Given the description of an element on the screen output the (x, y) to click on. 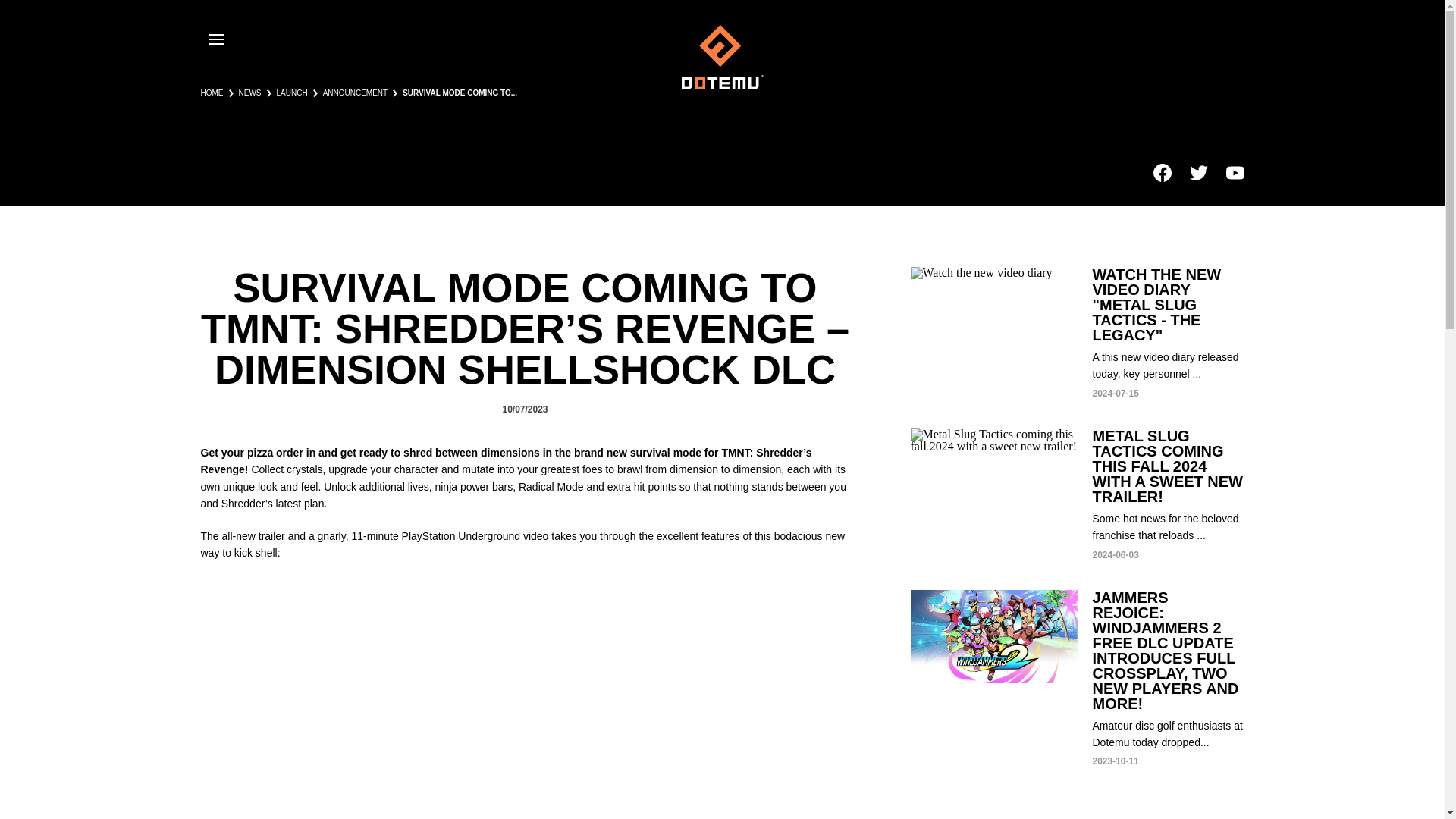
LAUNCH (291, 93)
NEWS (249, 93)
Announcement (355, 93)
Category Name (291, 93)
ANNOUNCEMENT (355, 93)
HOME (211, 93)
